Given the description of an element on the screen output the (x, y) to click on. 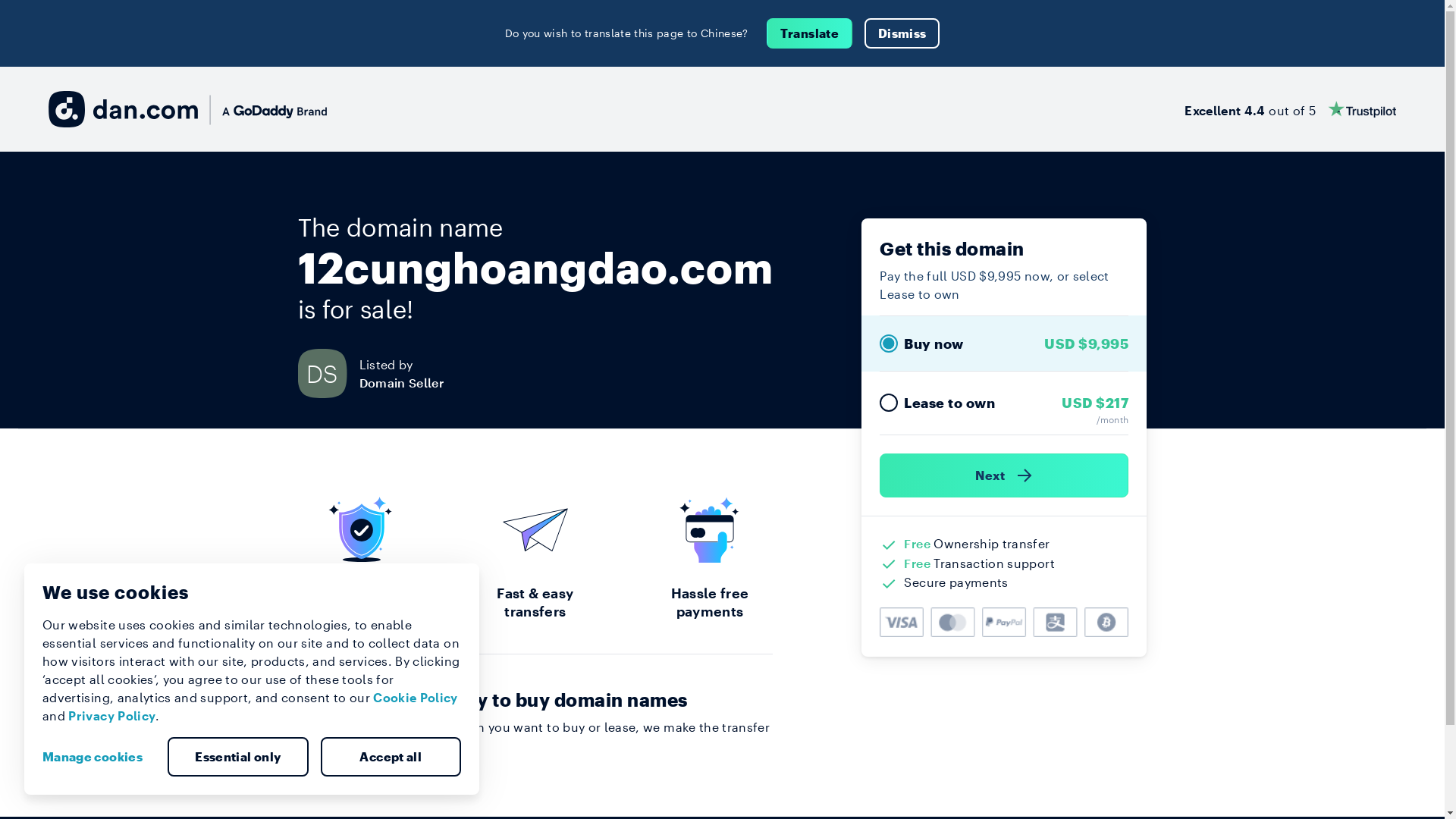
Next
) Element type: text (1003, 475)
Essential only Element type: text (237, 756)
Dismiss Element type: text (901, 33)
Translate Element type: text (809, 33)
Privacy Policy Element type: text (111, 715)
Accept all Element type: text (390, 756)
Excellent 4.4 out of 5 Element type: text (1290, 109)
Manage cookies Element type: text (98, 756)
Cookie Policy Element type: text (415, 697)
